Given the description of an element on the screen output the (x, y) to click on. 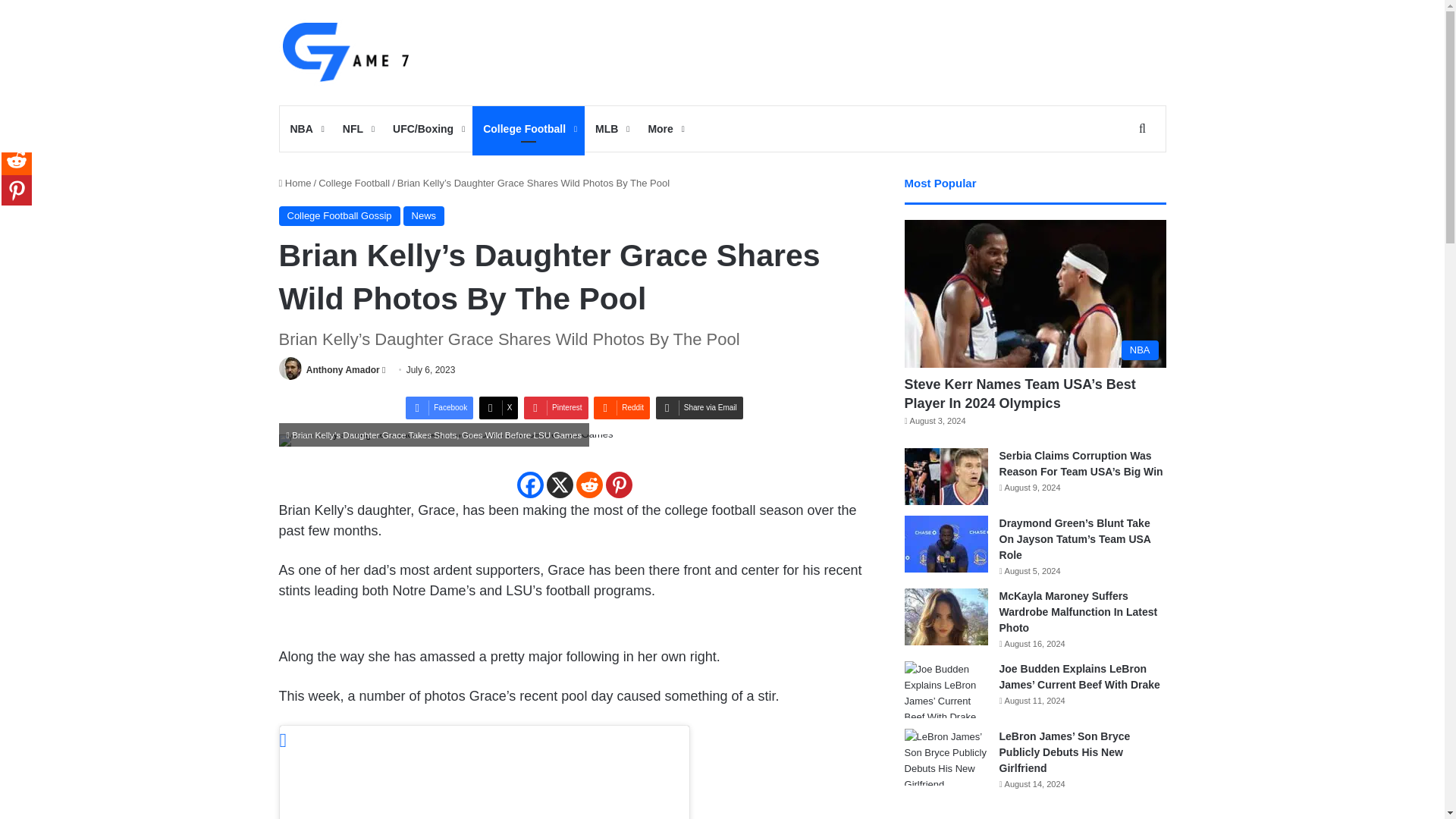
Pinterest (556, 407)
Reddit (589, 484)
Facebook (529, 484)
X (559, 484)
Share via Email (699, 407)
Facebook (439, 407)
NBA (305, 128)
NFL (356, 128)
Pinterest (618, 484)
